Given the description of an element on the screen output the (x, y) to click on. 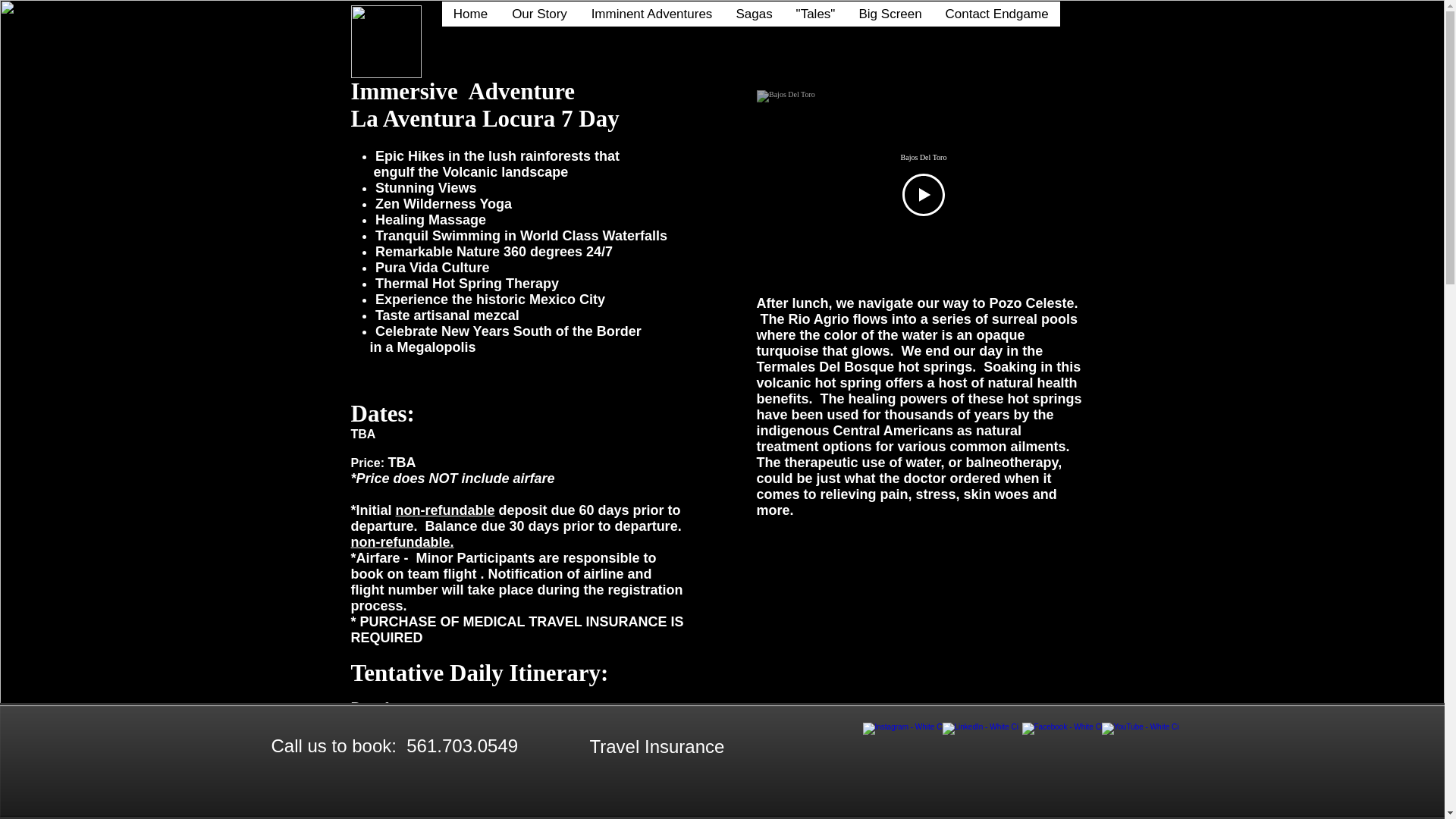
Our Story (538, 13)
Big Screen (889, 13)
Contact Endgame (996, 13)
Home (470, 13)
"Tales" (815, 13)
Imminent Adventures (651, 13)
Sagas (753, 13)
Travel Insurance (657, 745)
Bajos Del Toro (923, 156)
